Given the description of an element on the screen output the (x, y) to click on. 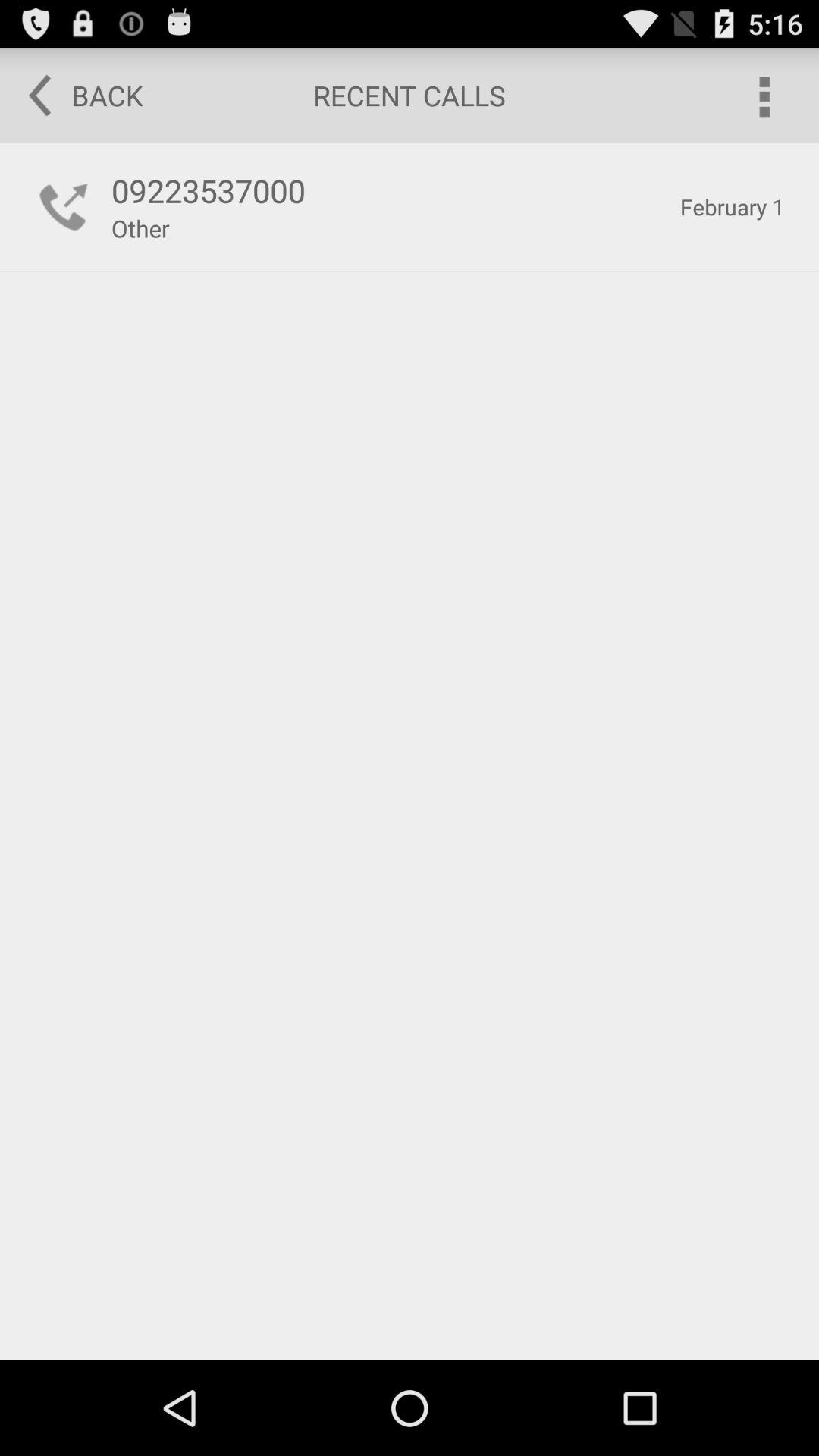
press the icon above 09223537000 app (75, 95)
